Given the description of an element on the screen output the (x, y) to click on. 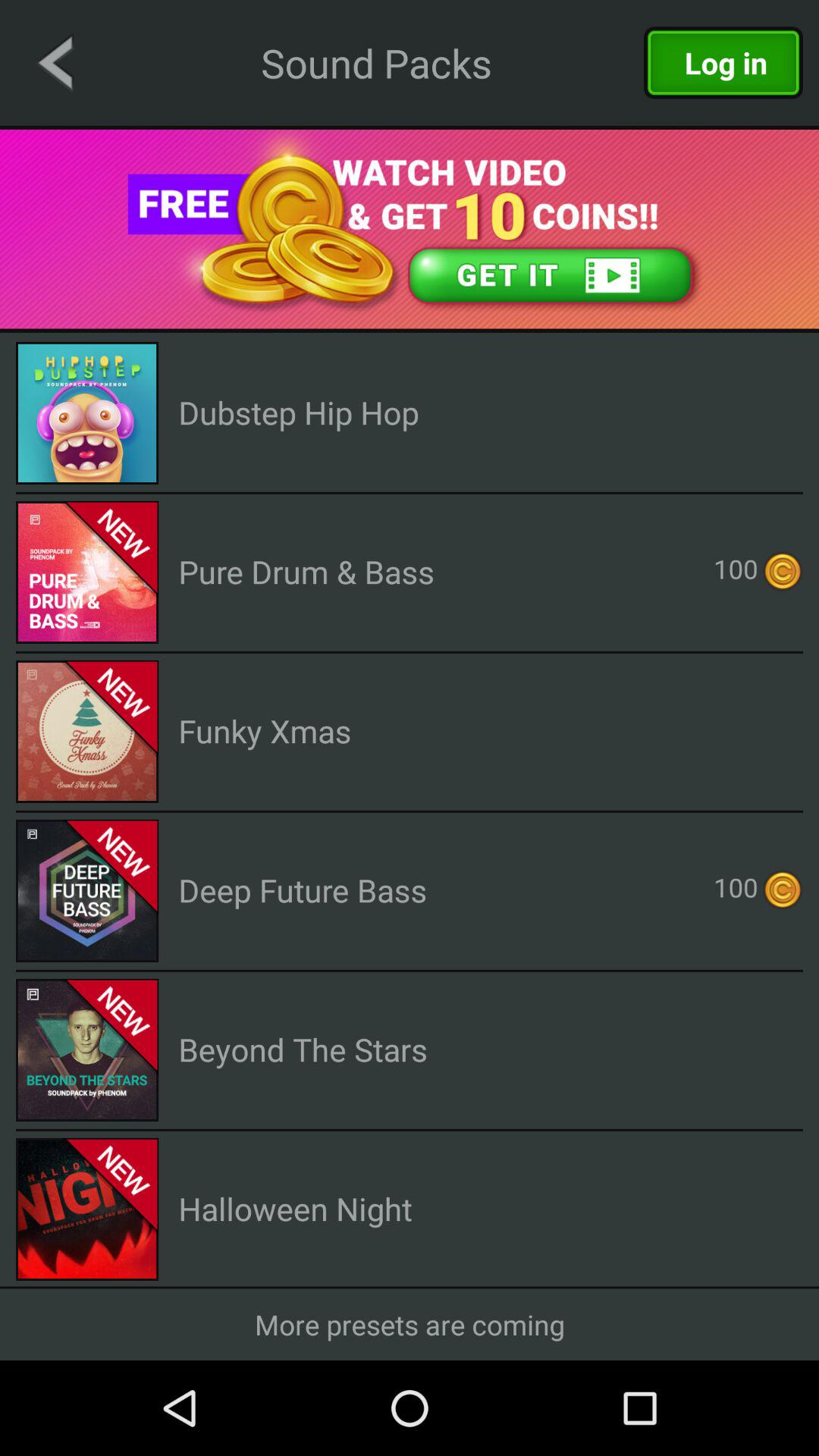
choose the item next to 100 icon (302, 889)
